Given the description of an element on the screen output the (x, y) to click on. 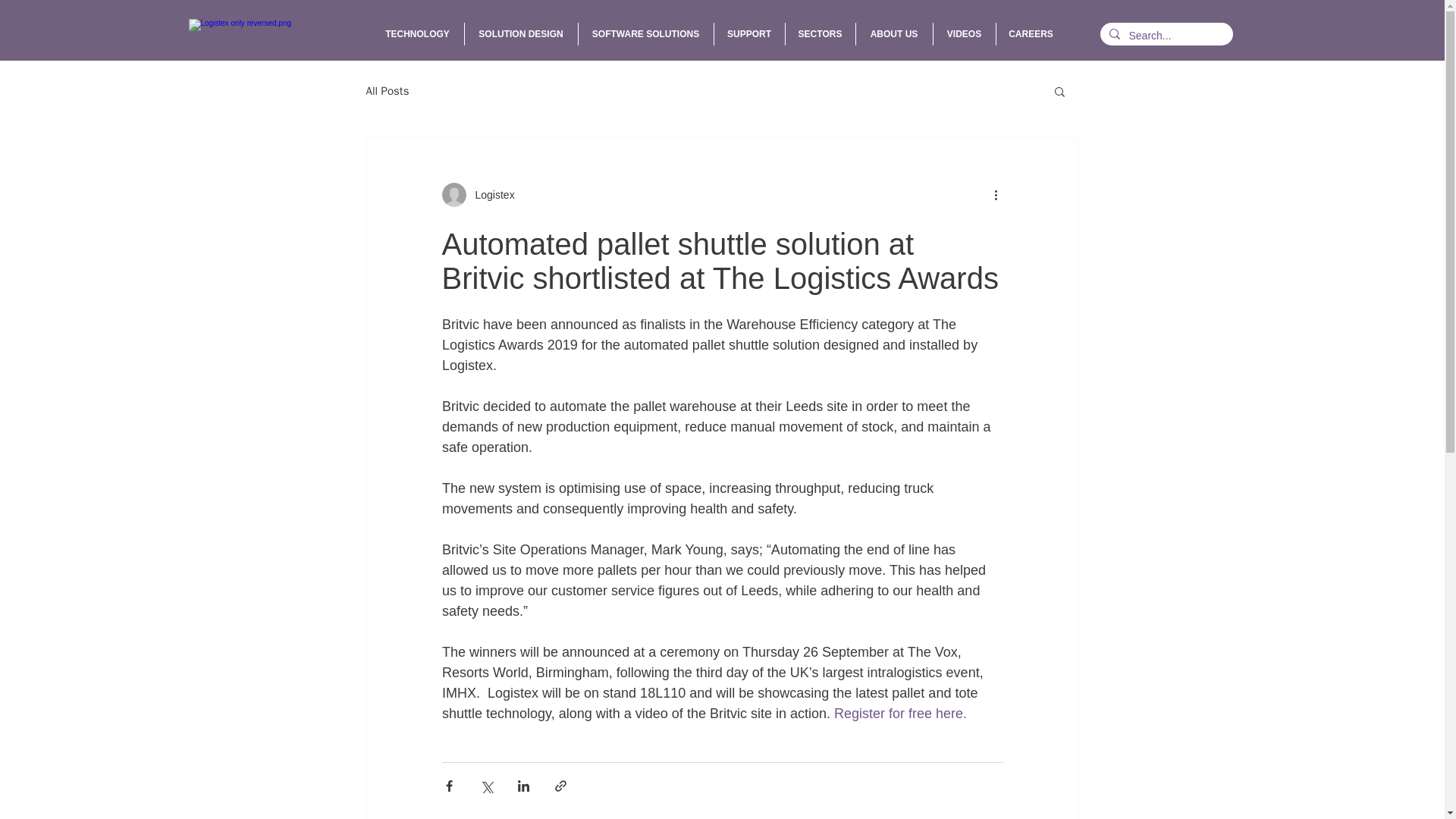
CAREERS (1030, 33)
Logistex (489, 194)
SECTORS (821, 33)
TECHNOLOGY (417, 33)
VIDEOS (963, 33)
All Posts (387, 90)
SOLUTION DESIGN (520, 33)
ABOUT US (893, 33)
SOFTWARE SOLUTIONS (645, 33)
SUPPORT (749, 33)
